Given the description of an element on the screen output the (x, y) to click on. 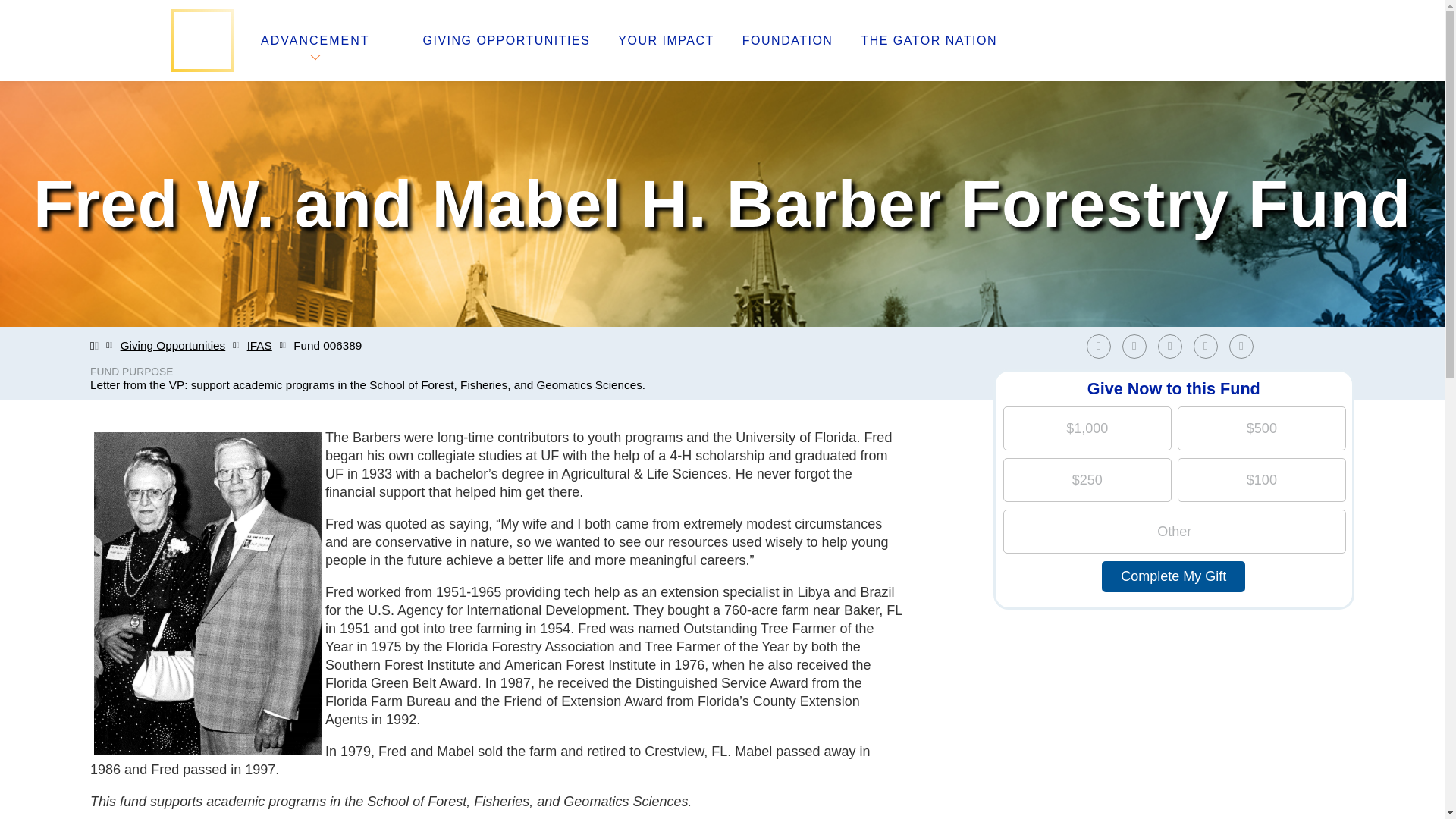
Share on LinkedIn (1169, 346)
Advancement Toolkit (565, 686)
Contact Us (306, 723)
Share by Email (1244, 345)
Share on Reddit (1205, 346)
Share on Facebook (1098, 346)
Foundation Board (327, 704)
Share by Email (1240, 346)
Staff Directory (316, 686)
Share on Facebook (1102, 345)
Complete My Gift (1173, 576)
Disclosures (537, 723)
Share on Reddit (1209, 345)
Share on Twitter (1138, 345)
FOUNDATION (787, 40)
